Given the description of an element on the screen output the (x, y) to click on. 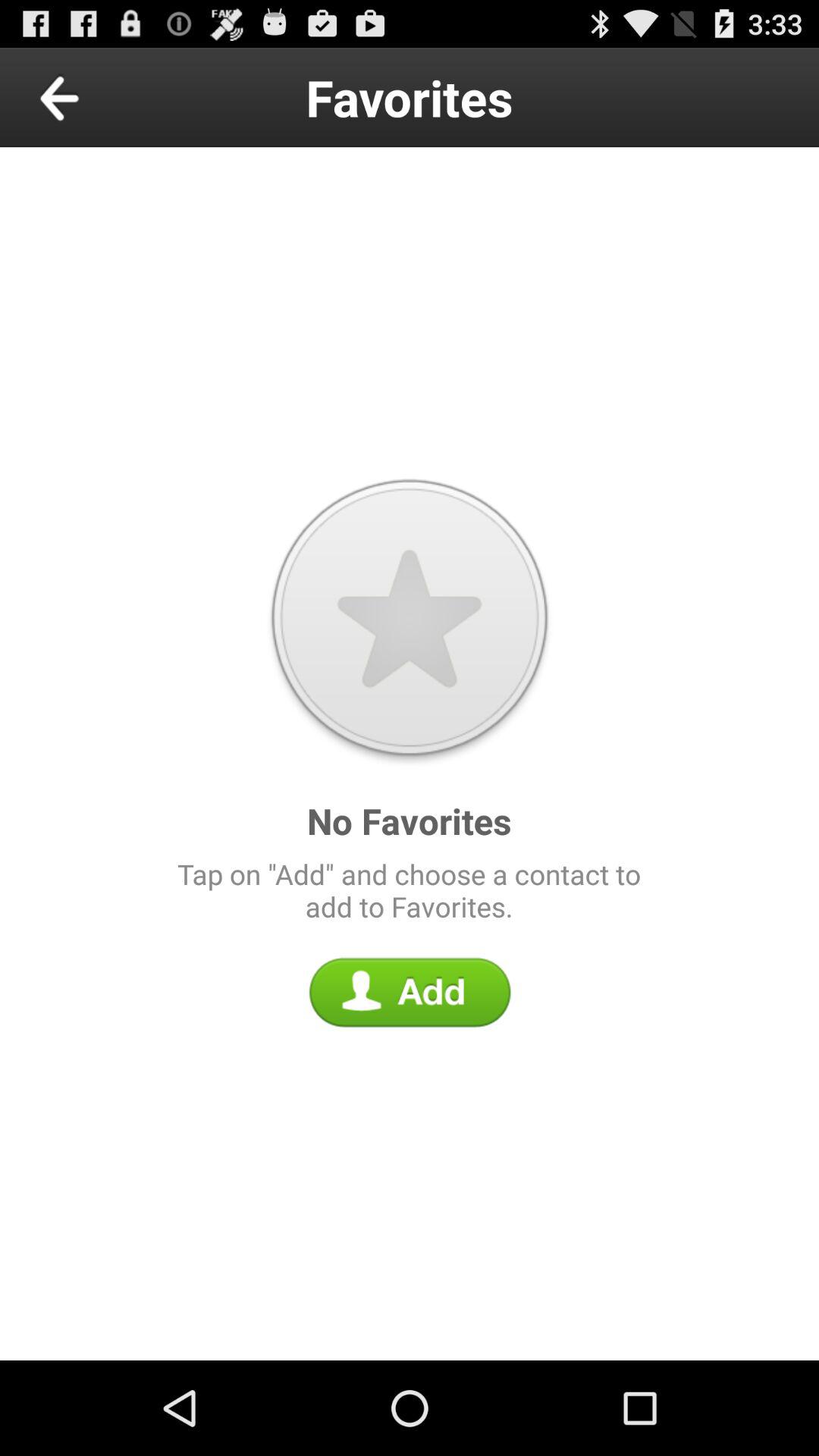
open the icon below the tap on add icon (409, 992)
